Given the description of an element on the screen output the (x, y) to click on. 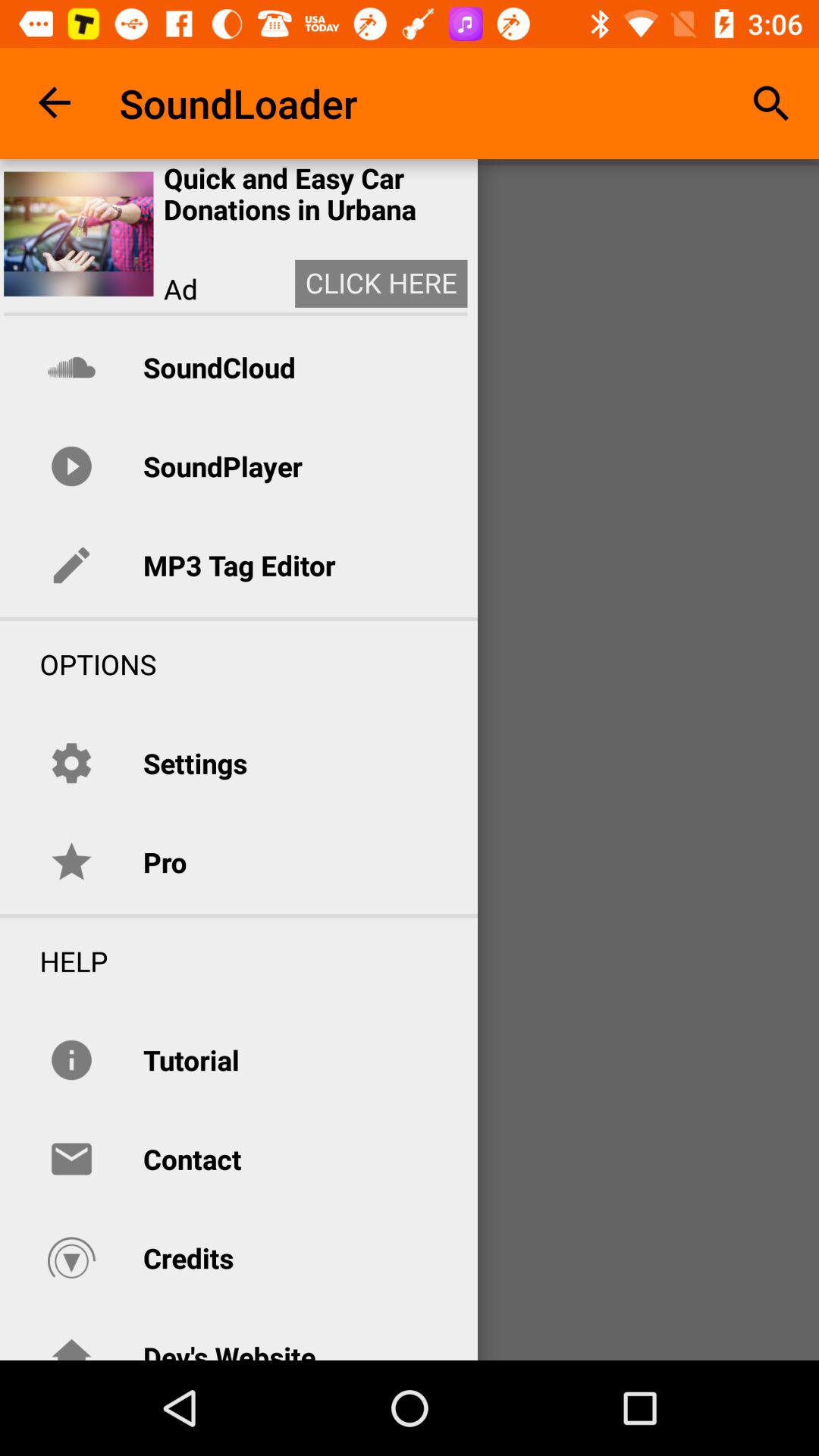
click the icon above the mp3 tag editor item (222, 466)
